Given the description of an element on the screen output the (x, y) to click on. 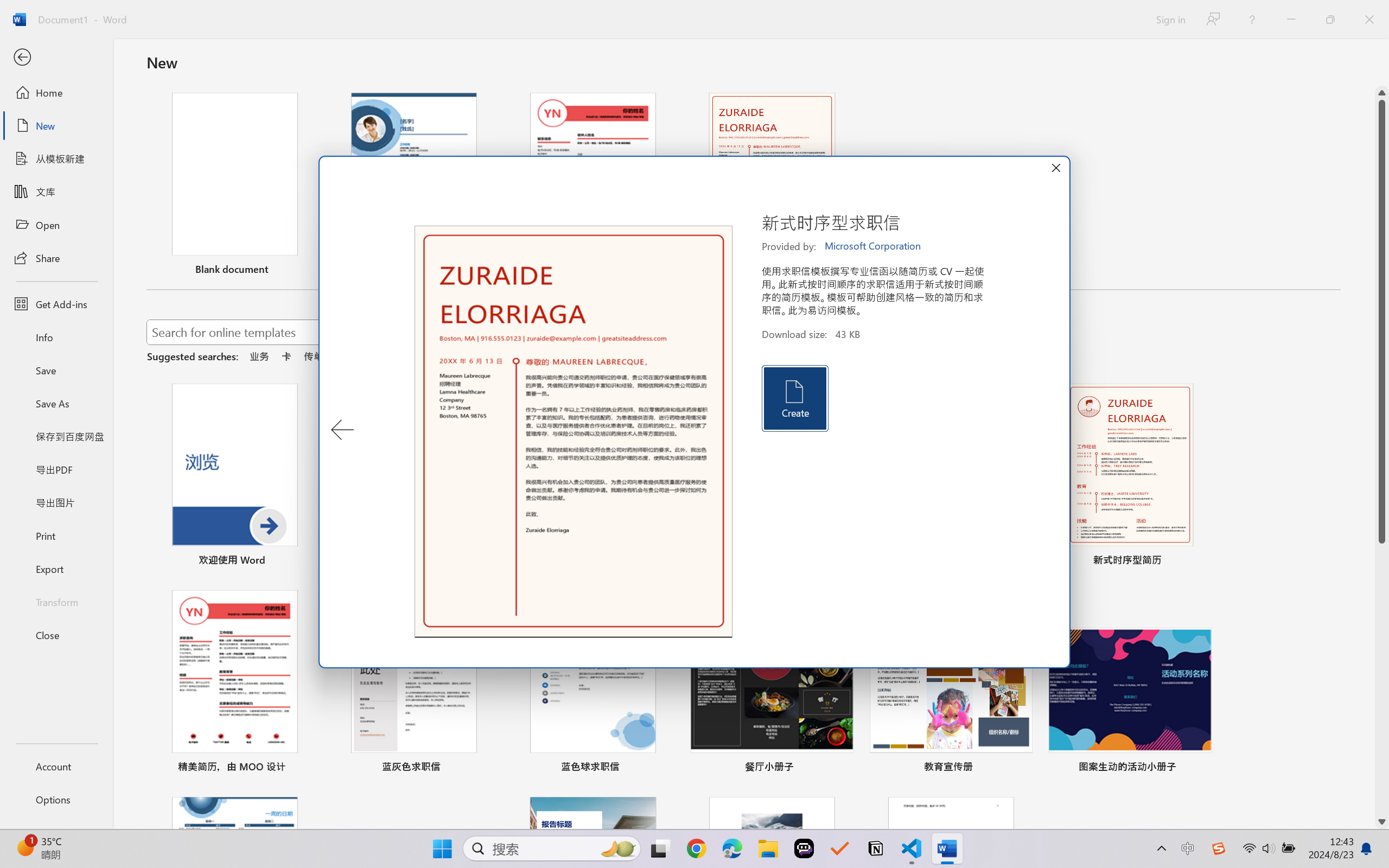
Account (56, 765)
Line up (1382, 92)
Back (56, 57)
Preview (573, 431)
Info (56, 337)
Save As (56, 403)
